Given the description of an element on the screen output the (x, y) to click on. 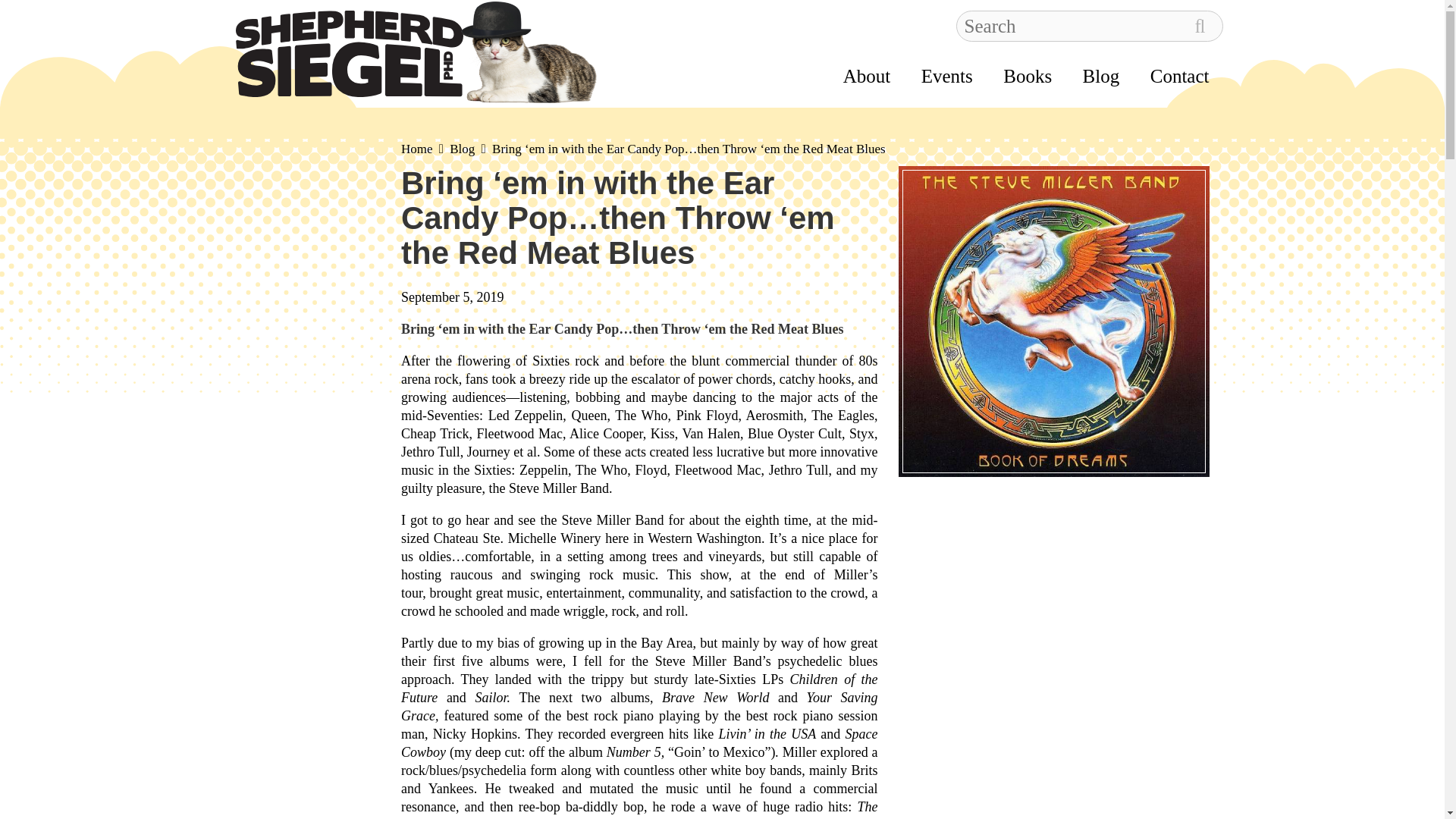
Events (946, 75)
Home (416, 149)
Blog (461, 149)
About (867, 75)
Contact (1179, 75)
Books (1027, 75)
Blog (1101, 75)
